Given the description of an element on the screen output the (x, y) to click on. 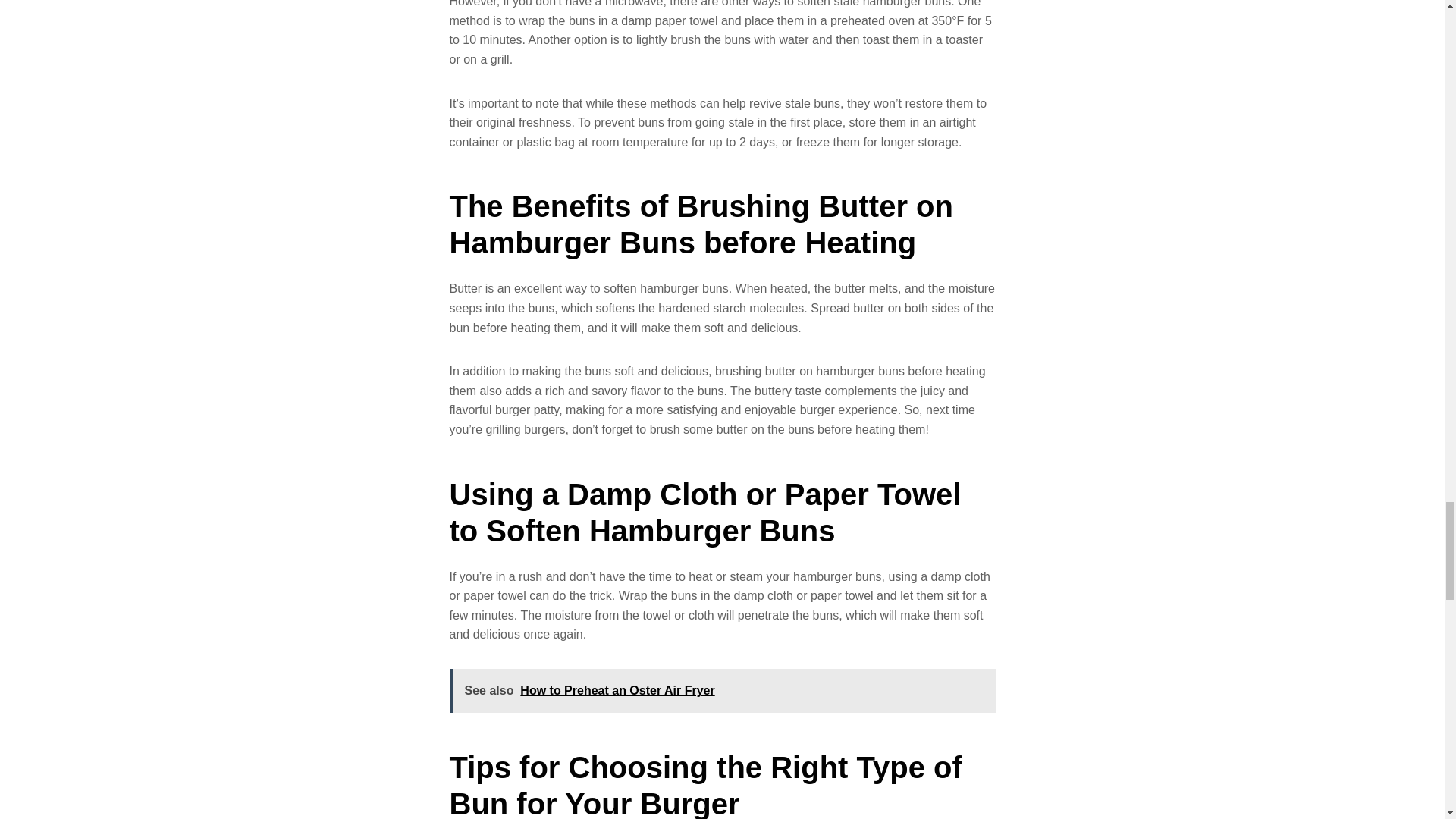
See also  How to Preheat an Oster Air Fryer (721, 690)
